Given the description of an element on the screen output the (x, y) to click on. 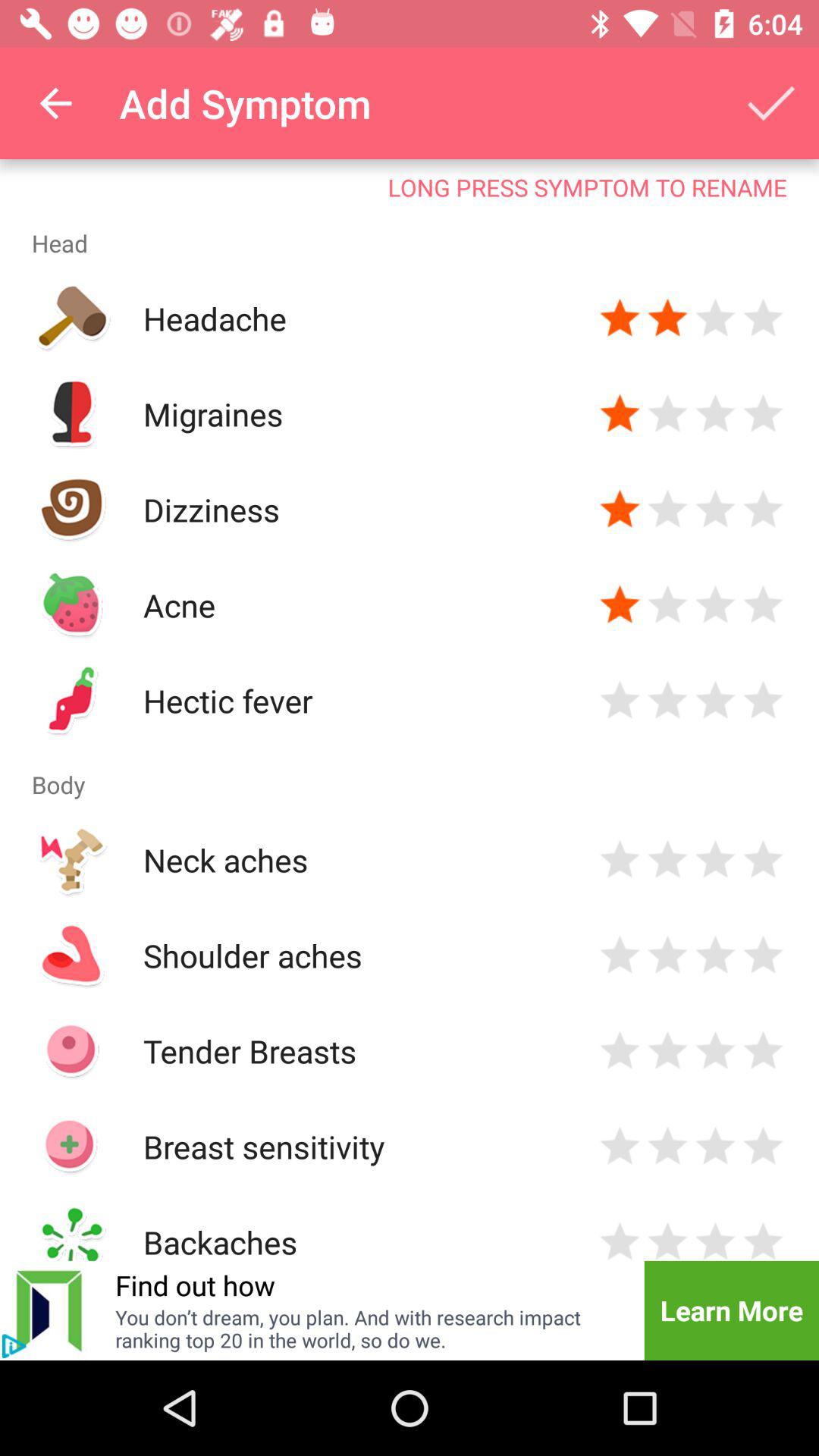
add neck aches as simptom 3/4 intensity (715, 859)
